Given the description of an element on the screen output the (x, y) to click on. 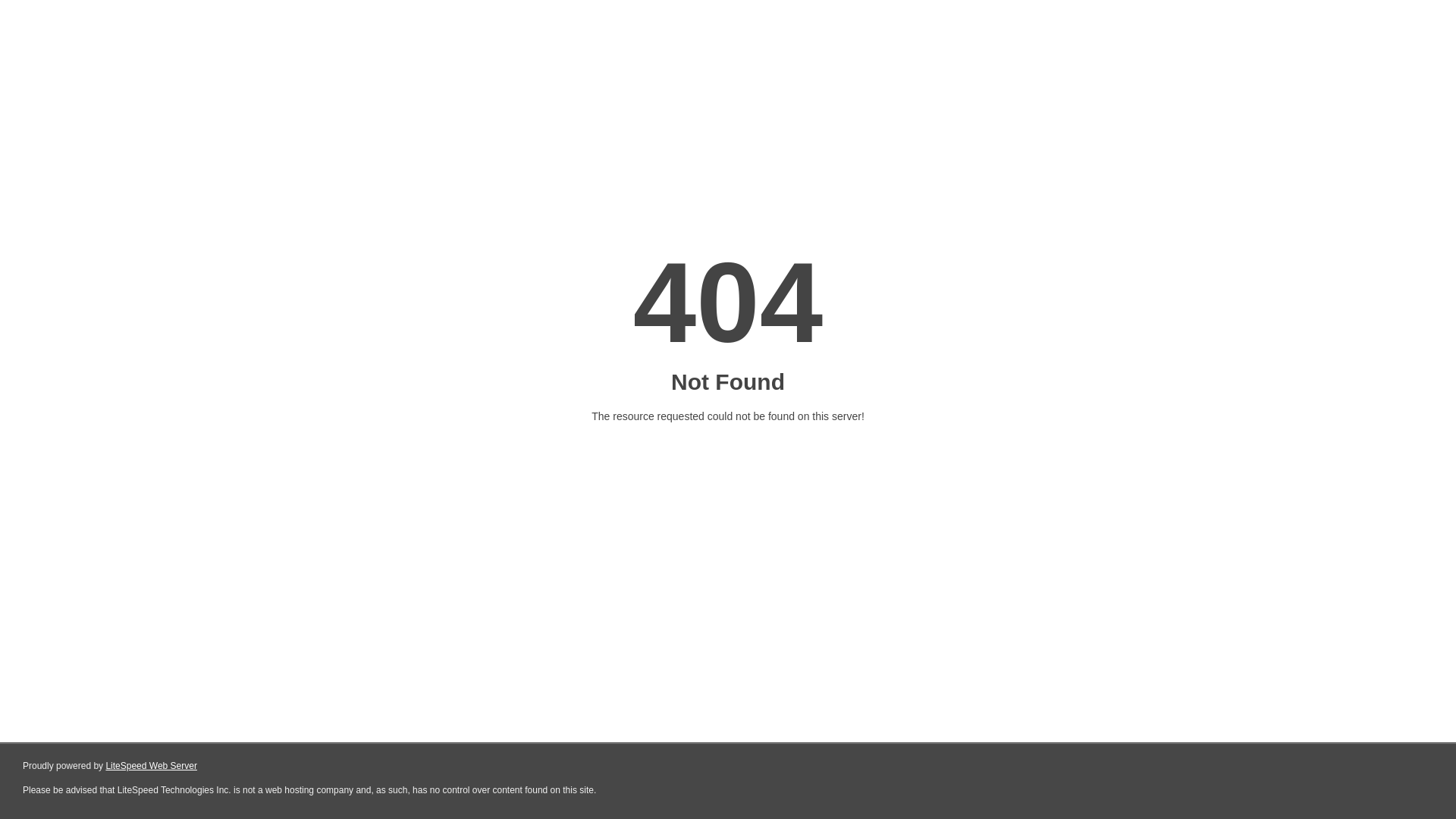
LiteSpeed Web Server Element type: text (151, 765)
